Given the description of an element on the screen output the (x, y) to click on. 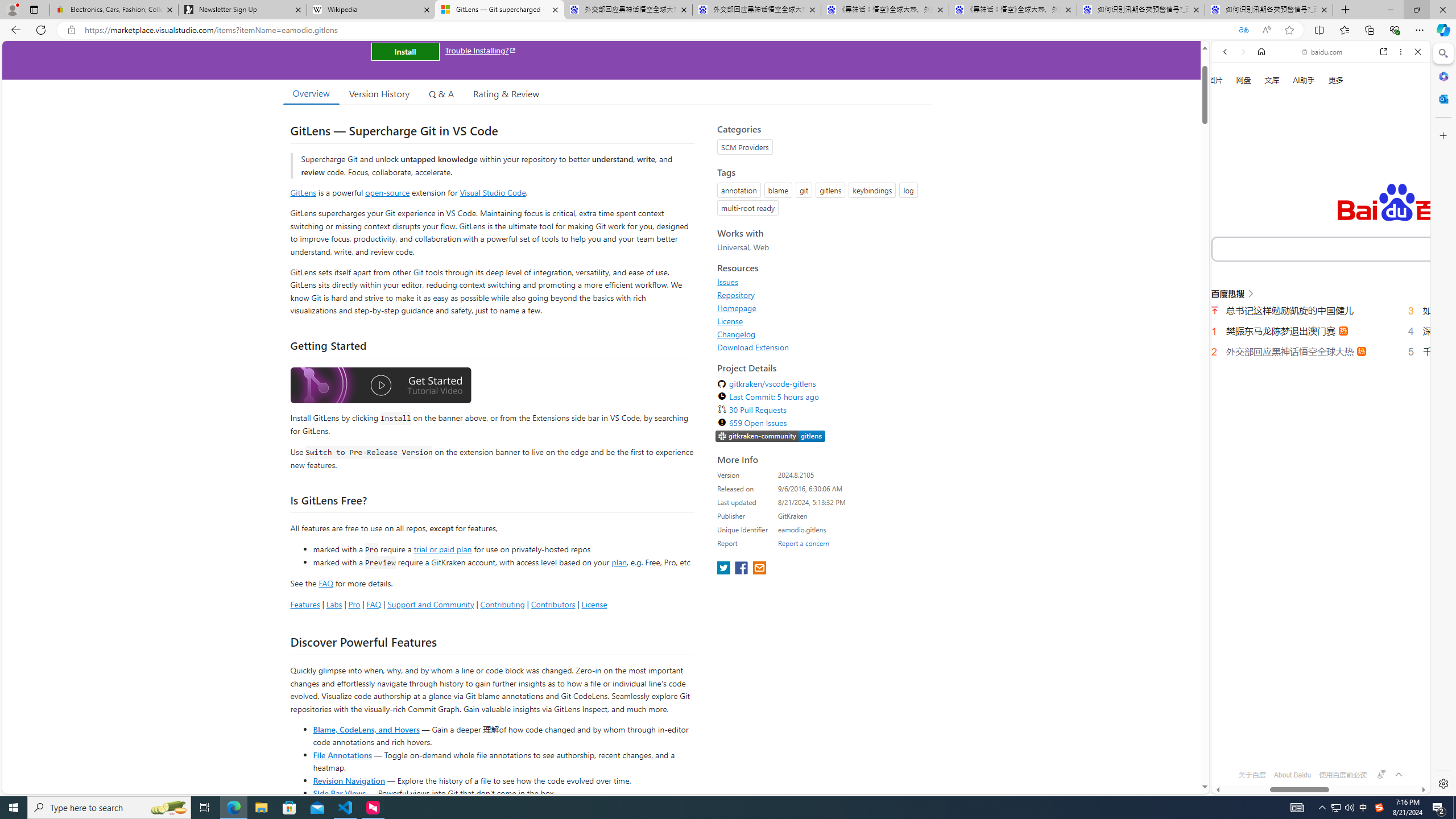
Support and Community (430, 603)
